Given the description of an element on the screen output the (x, y) to click on. 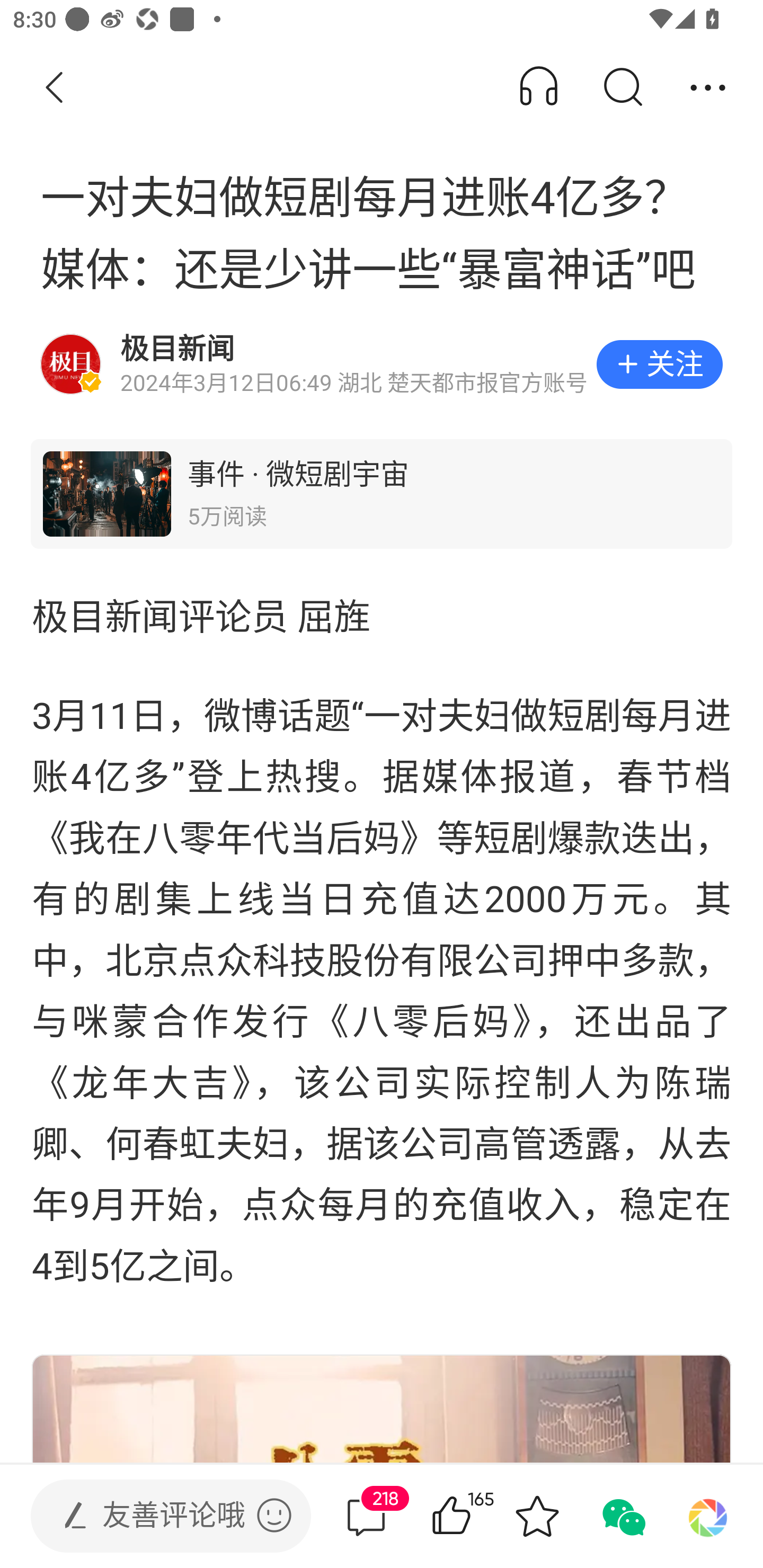
搜索  (622, 87)
分享  (707, 87)
 返回 (54, 87)
极目新闻 2024年3月12日06:49 湖北 楚天都市报官方账号  关注 (381, 364)
 关注 (659, 364)
事件 ·  微短剧宇宙 5万阅读 (381, 493)
发表评论  友善评论哦 发表评论  (155, 1516)
218评论  218 评论 (365, 1516)
165赞 (476, 1516)
收藏  (536, 1516)
分享到微信  (622, 1516)
分享到朋友圈 (707, 1516)
 (274, 1515)
